Given the description of an element on the screen output the (x, y) to click on. 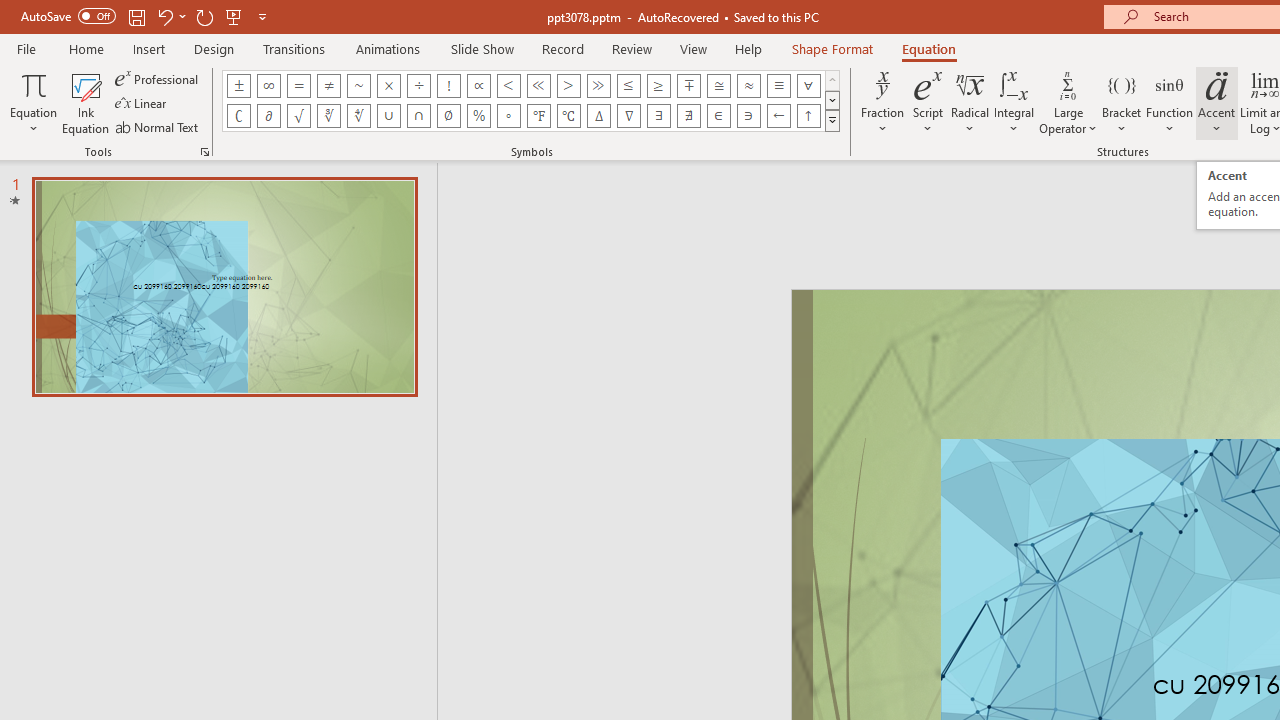
Equation Symbol For All (808, 85)
Equation Symbol Proportional To (478, 85)
Equation Symbol Contains as Member (748, 115)
Fraction (882, 102)
Equation (33, 102)
Bracket (1121, 102)
Equation (928, 48)
Equation Symbol Increment (598, 115)
